Given the description of an element on the screen output the (x, y) to click on. 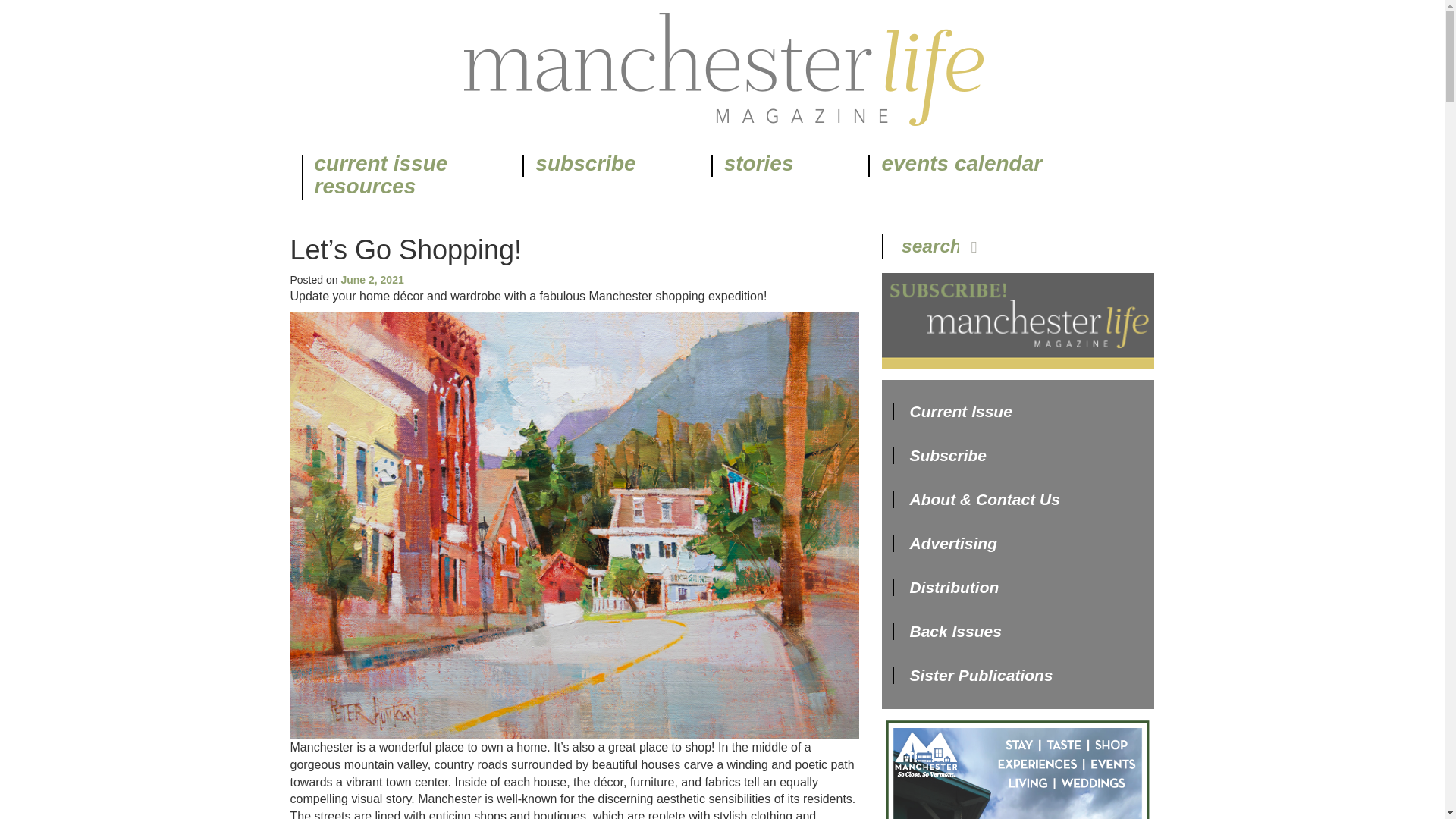
resources (364, 188)
Distribution (944, 587)
Current Issue (951, 411)
subscribe (584, 165)
Back Issues (946, 630)
events calendar (959, 165)
current issue (380, 165)
Manchester Life (722, 70)
Advertising (944, 543)
Subscribe (939, 455)
June 2, 2021 (371, 279)
stories (758, 165)
Sister Publications (971, 674)
